Given the description of an element on the screen output the (x, y) to click on. 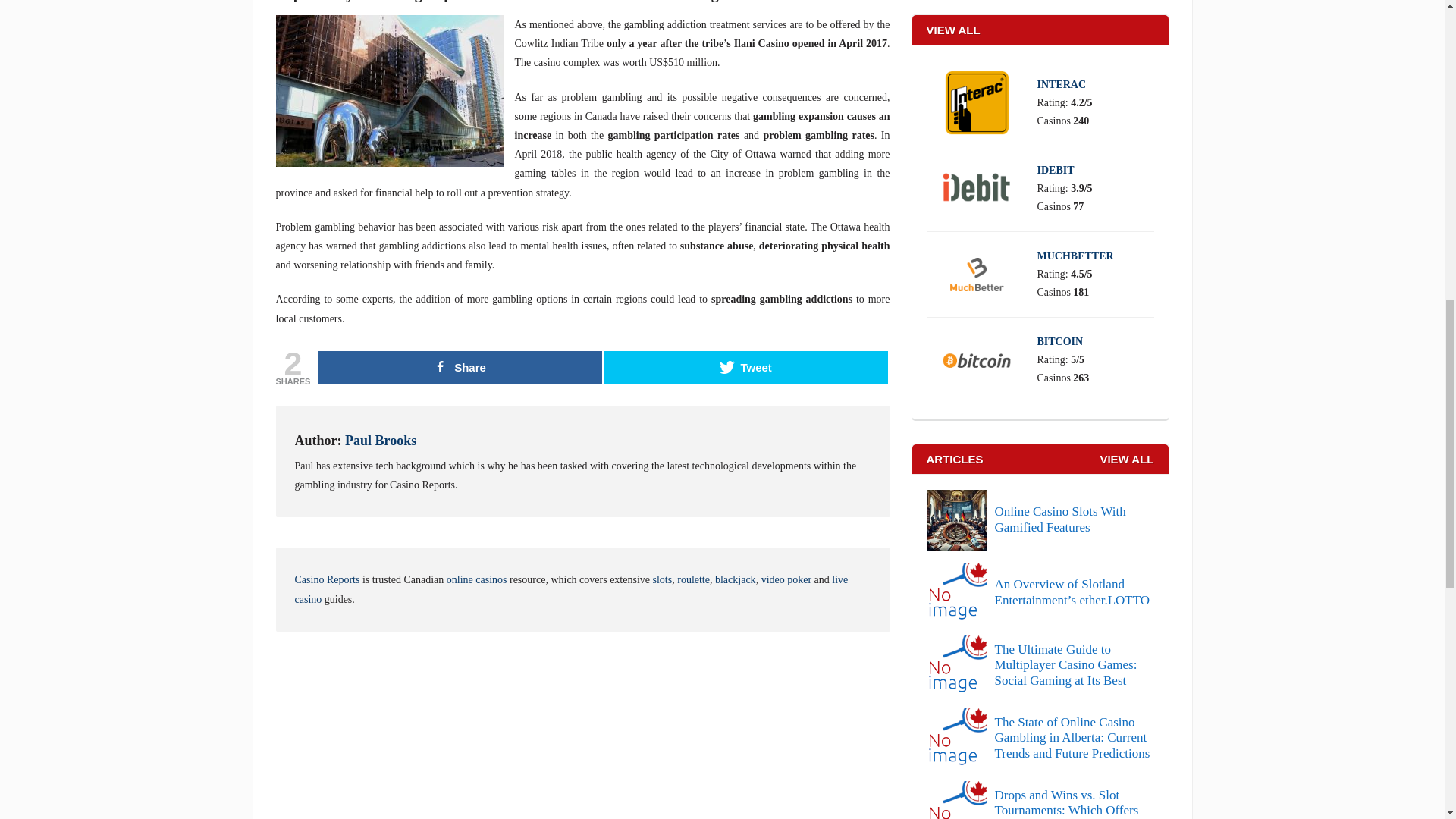
Online Casino Slots With Gamified Features (1040, 519)
